Given the description of an element on the screen output the (x, y) to click on. 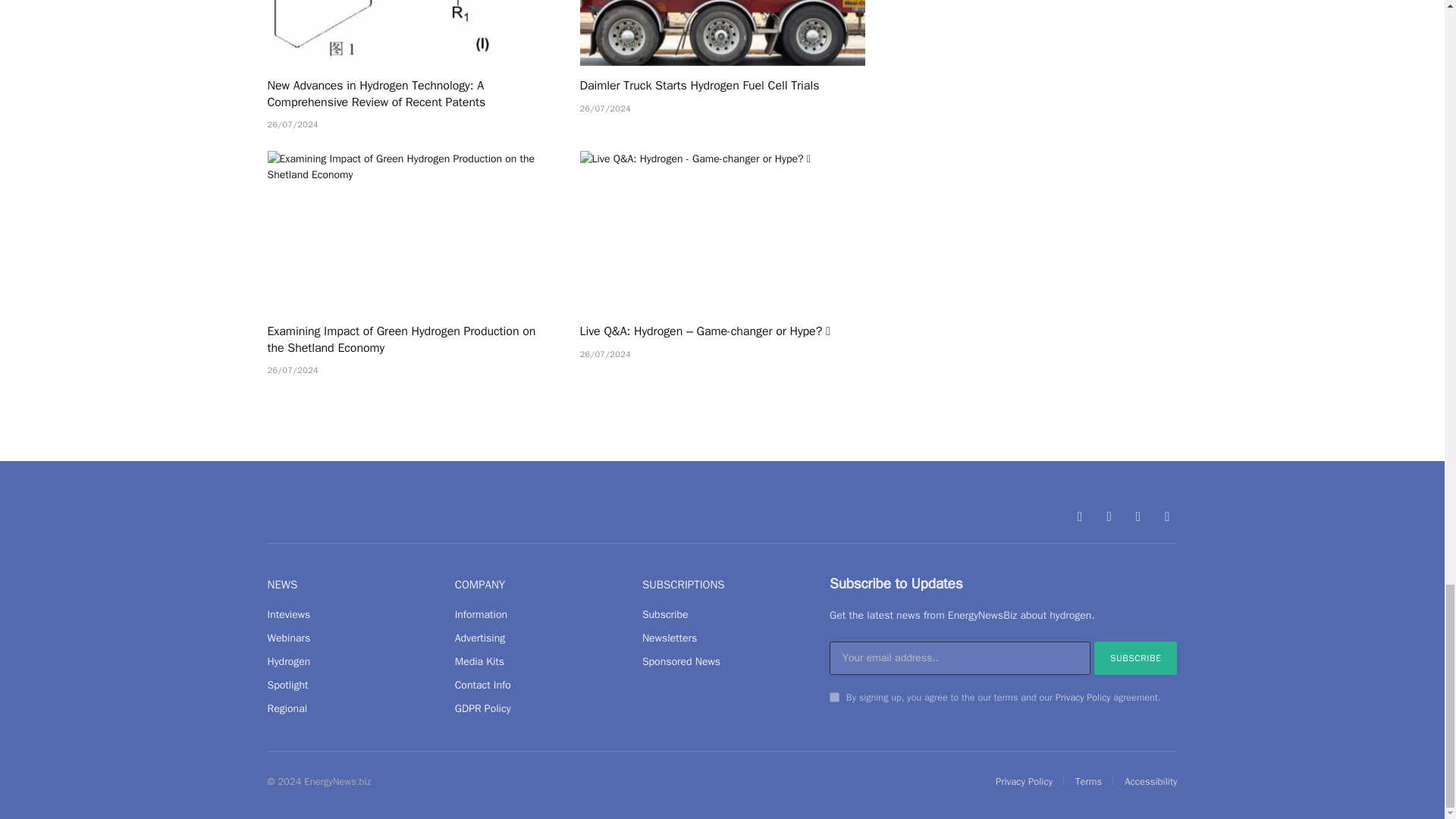
Subscribe (1135, 657)
on (834, 696)
